Given the description of an element on the screen output the (x, y) to click on. 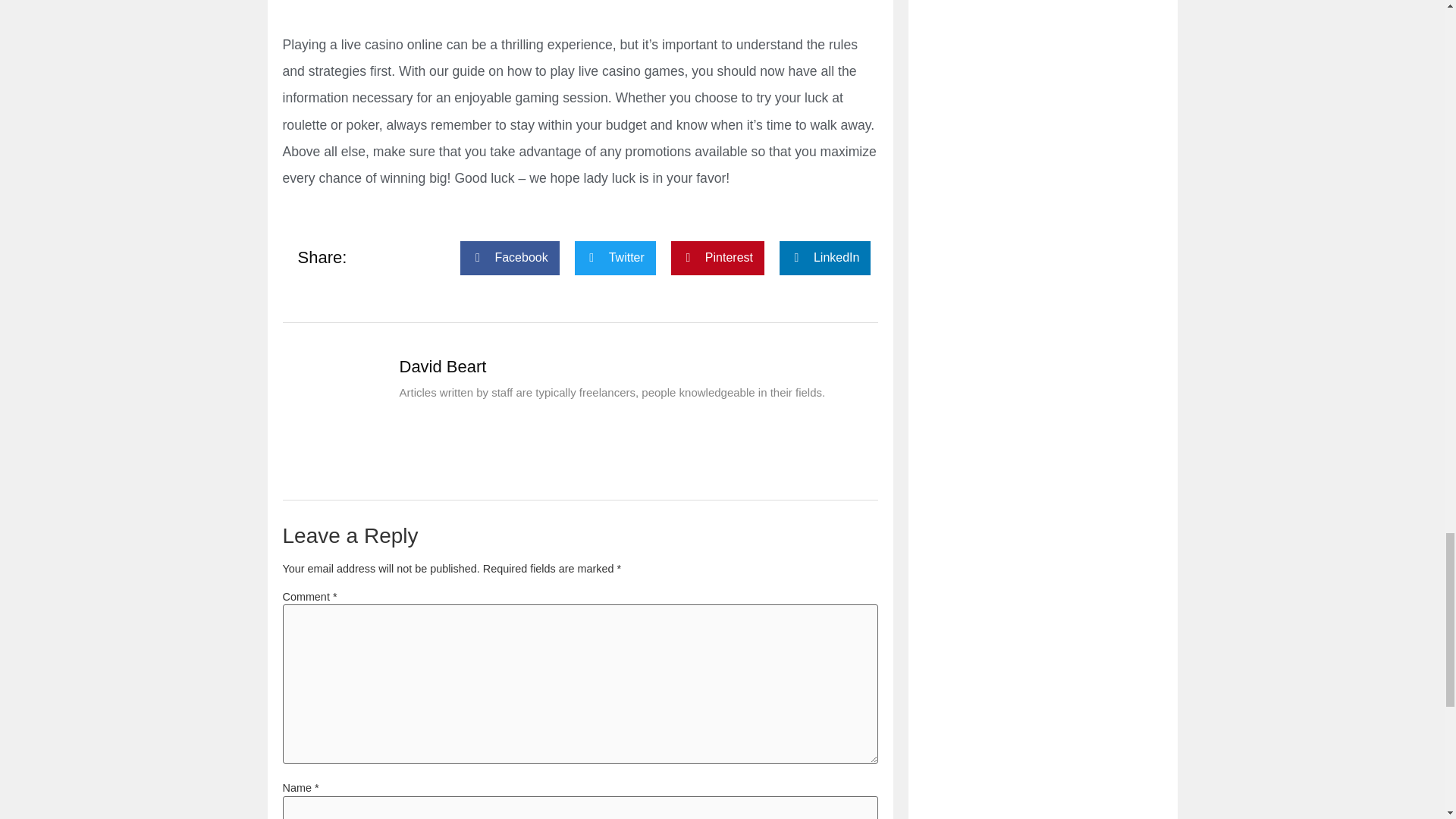
YouTube video player (579, 5)
